Given the description of an element on the screen output the (x, y) to click on. 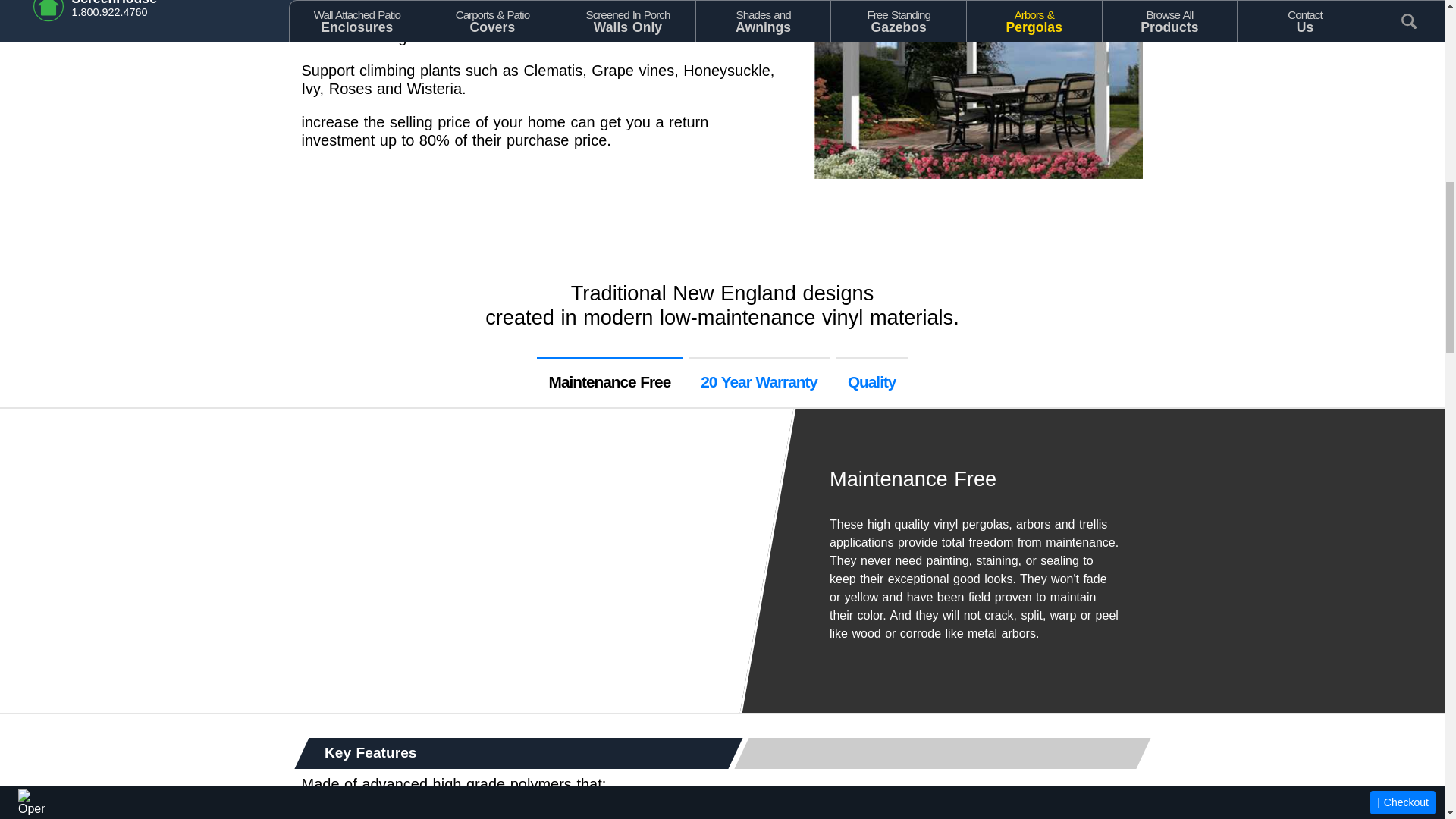
20 Year Warranty (758, 380)
Quality (871, 380)
Maintenance Free (609, 380)
